Given the description of an element on the screen output the (x, y) to click on. 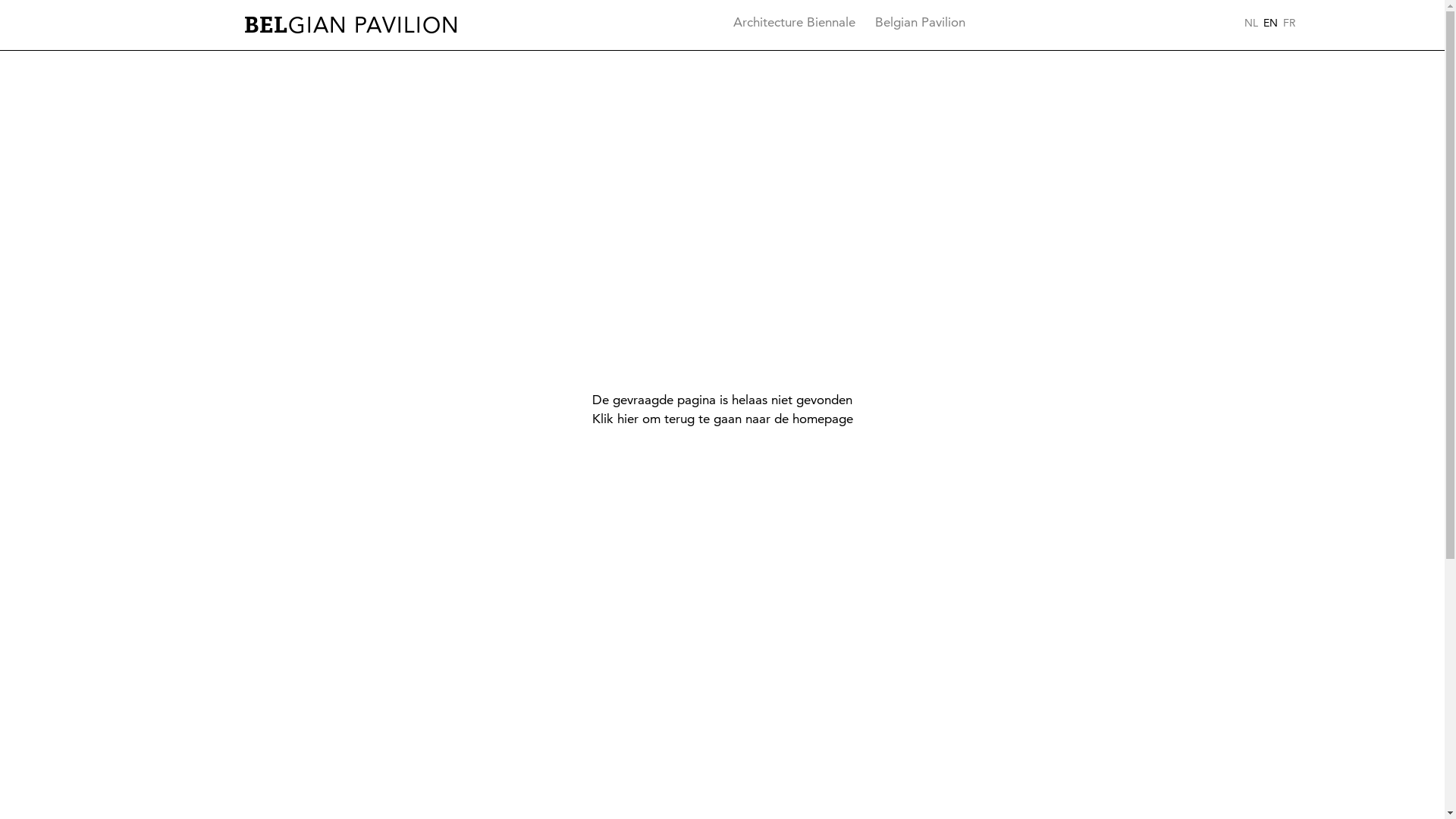
NL Element type: text (1251, 22)
EN Element type: text (1270, 22)
FR Element type: text (1289, 22)
BELGIAN PAVILION Element type: text (351, 24)
Klik hier om terug te gaan naar de homepage Element type: text (721, 418)
